Given the description of an element on the screen output the (x, y) to click on. 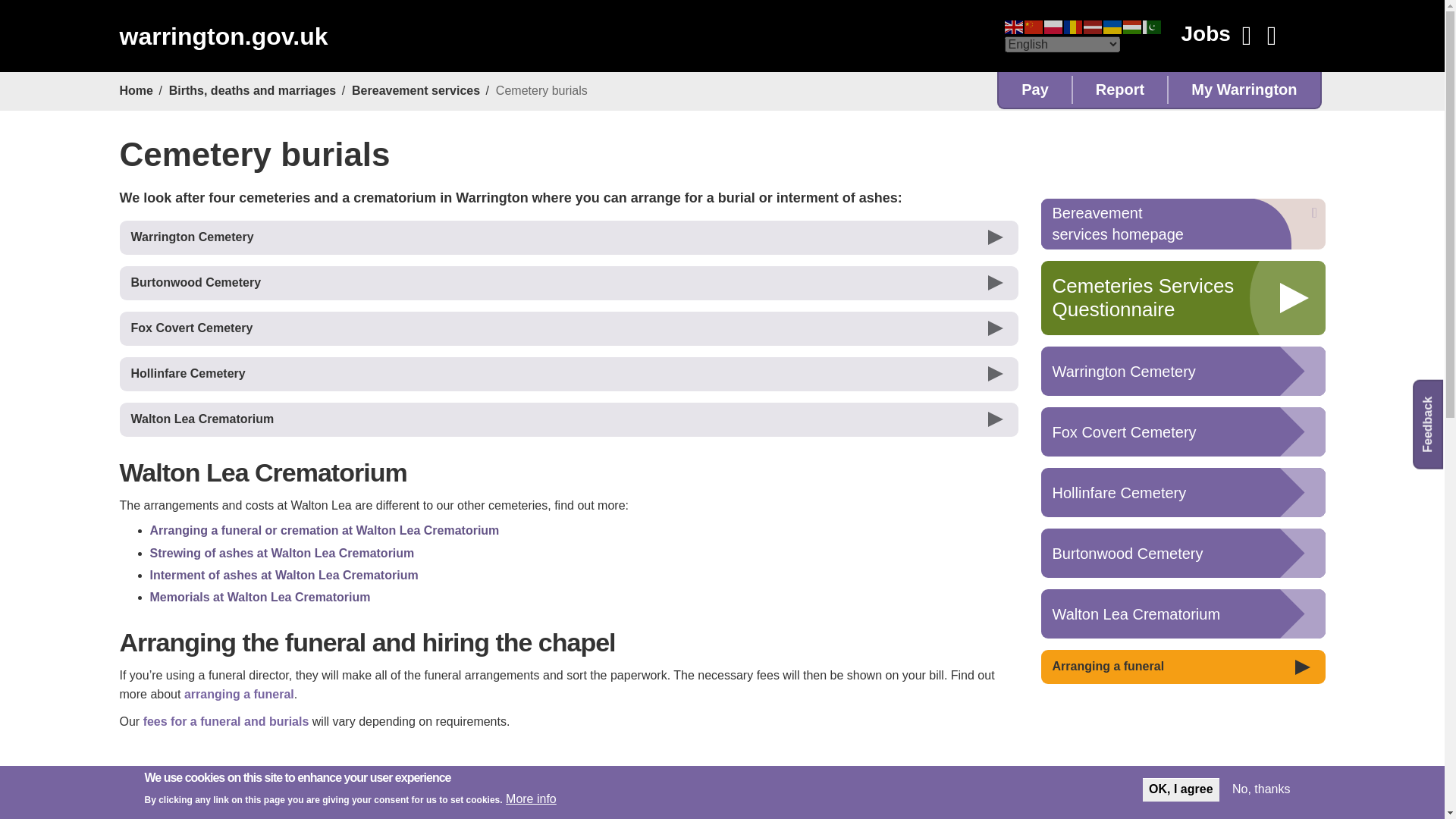
Home (223, 36)
Search (1246, 36)
Polski (1052, 25)
Pay (1034, 89)
Report (1120, 89)
Magyar (1131, 25)
English (1013, 25)
warrington.gov.uk (223, 36)
Toggle navigation (1271, 36)
Jobs (1203, 33)
